Given the description of an element on the screen output the (x, y) to click on. 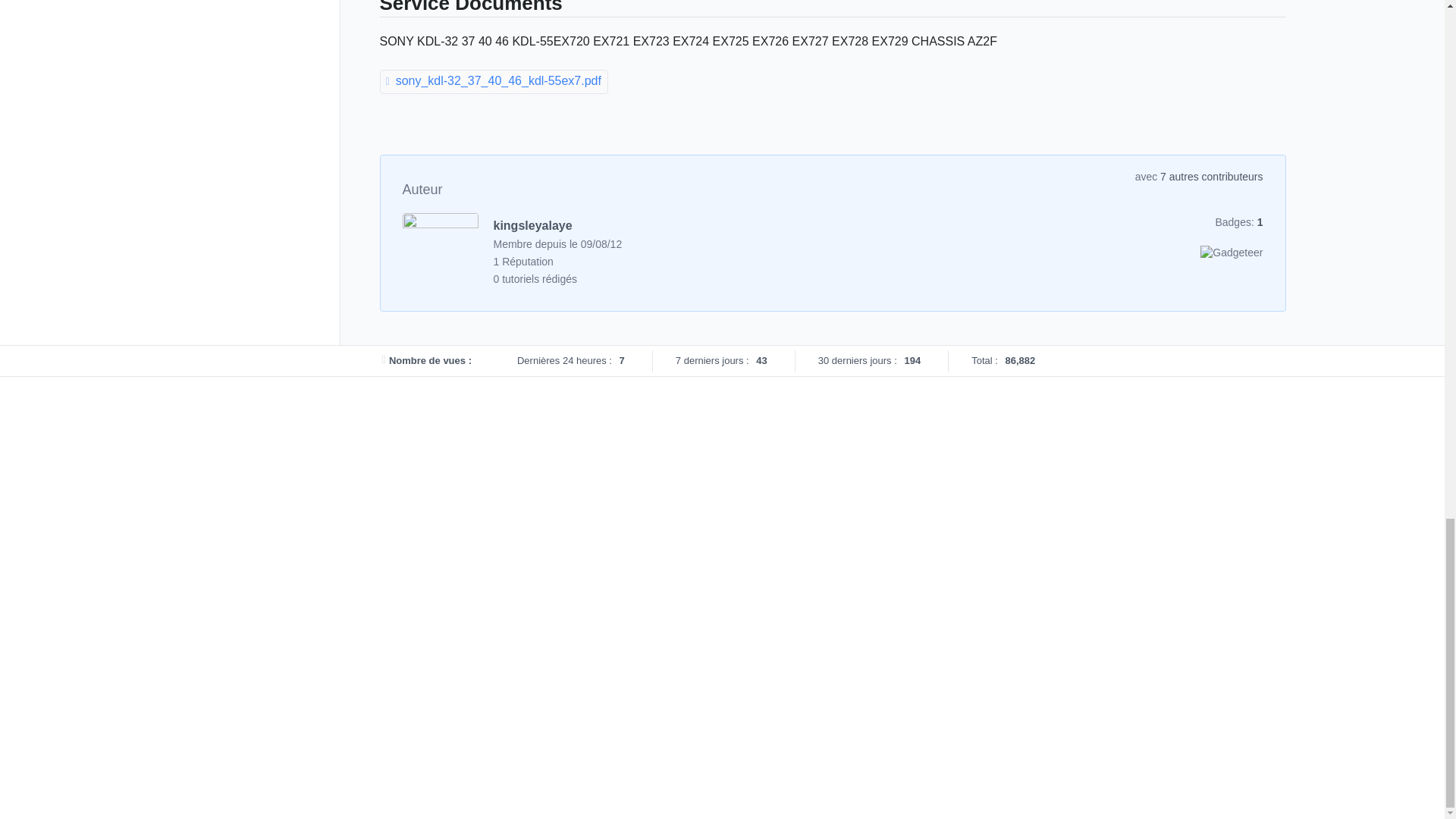
Auteur (421, 189)
7 autres contributeurs (1211, 176)
kingsleyalaye (532, 225)
Lien vers cette section (371, 7)
Badges: 1 (1238, 222)
